Given the description of an element on the screen output the (x, y) to click on. 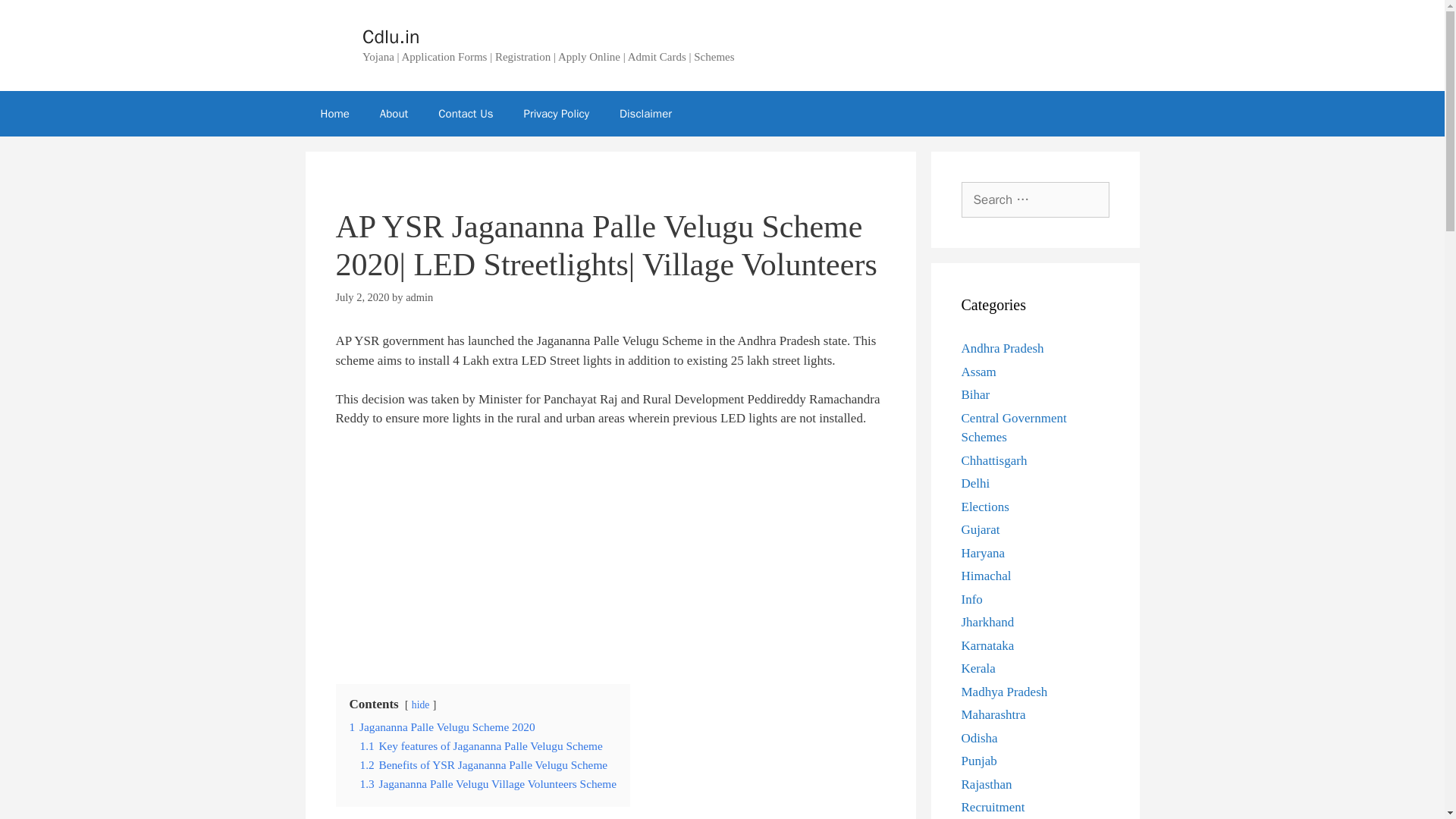
Contact Us (465, 113)
Search for: (1034, 199)
1.2 Benefits of YSR Jagananna Palle Velugu Scheme (483, 764)
Assam (977, 371)
Search (35, 18)
Disclaimer (645, 113)
Himachal (985, 575)
Karnataka (987, 645)
Info (971, 599)
Elections (984, 506)
